Given the description of an element on the screen output the (x, y) to click on. 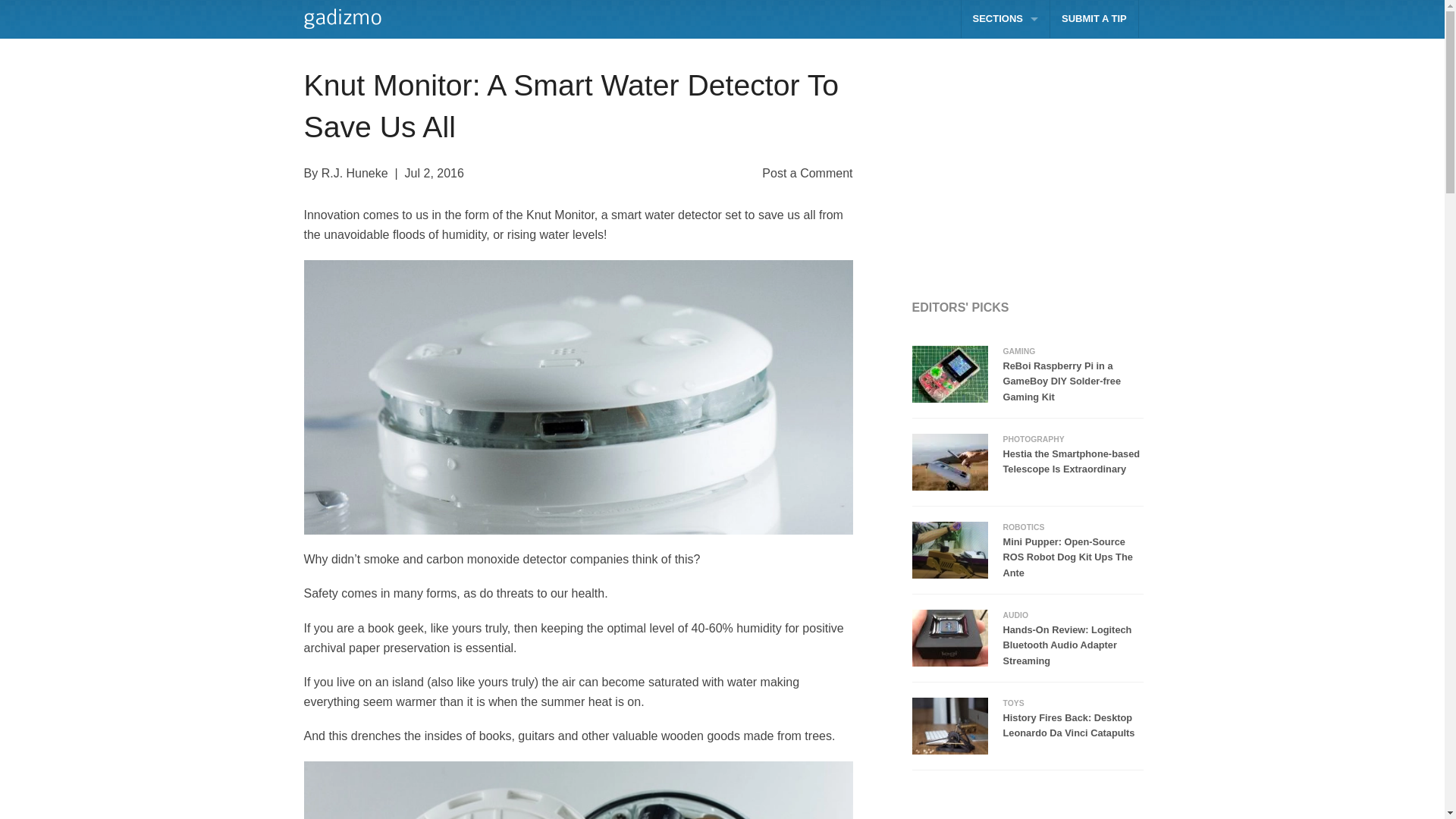
Gadgets, Gizmos, and Developing Tech News (340, 18)
SUBMIT A TIP (1093, 19)
SECTIONS (1004, 19)
Post a Comment (806, 173)
